Given the description of an element on the screen output the (x, y) to click on. 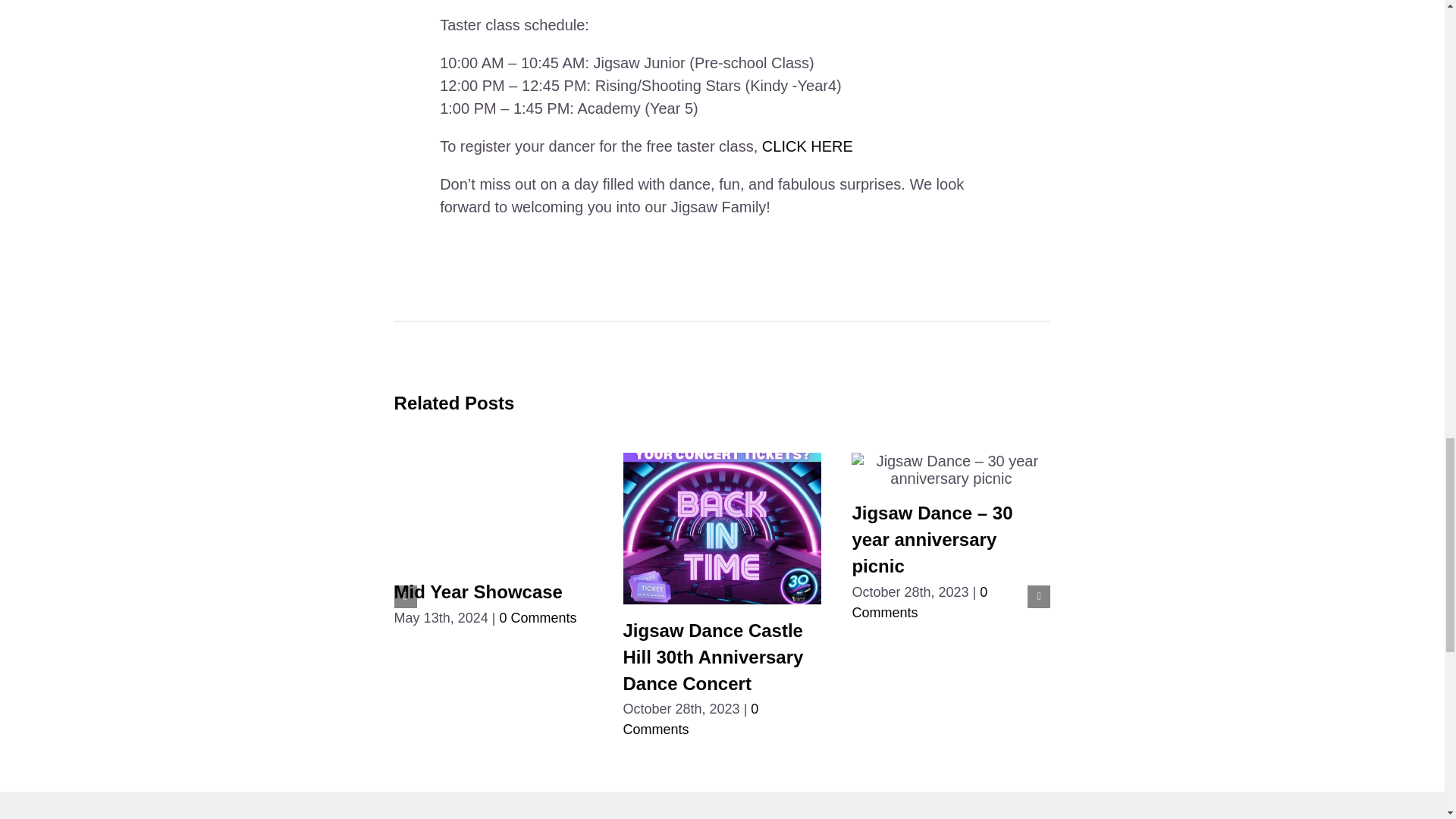
Mid Year Showcase (478, 591)
Jigsaw Dance Castle Hill 30th Anniversary Dance Concert (713, 656)
CLICK HERE  (809, 146)
